Given the description of an element on the screen output the (x, y) to click on. 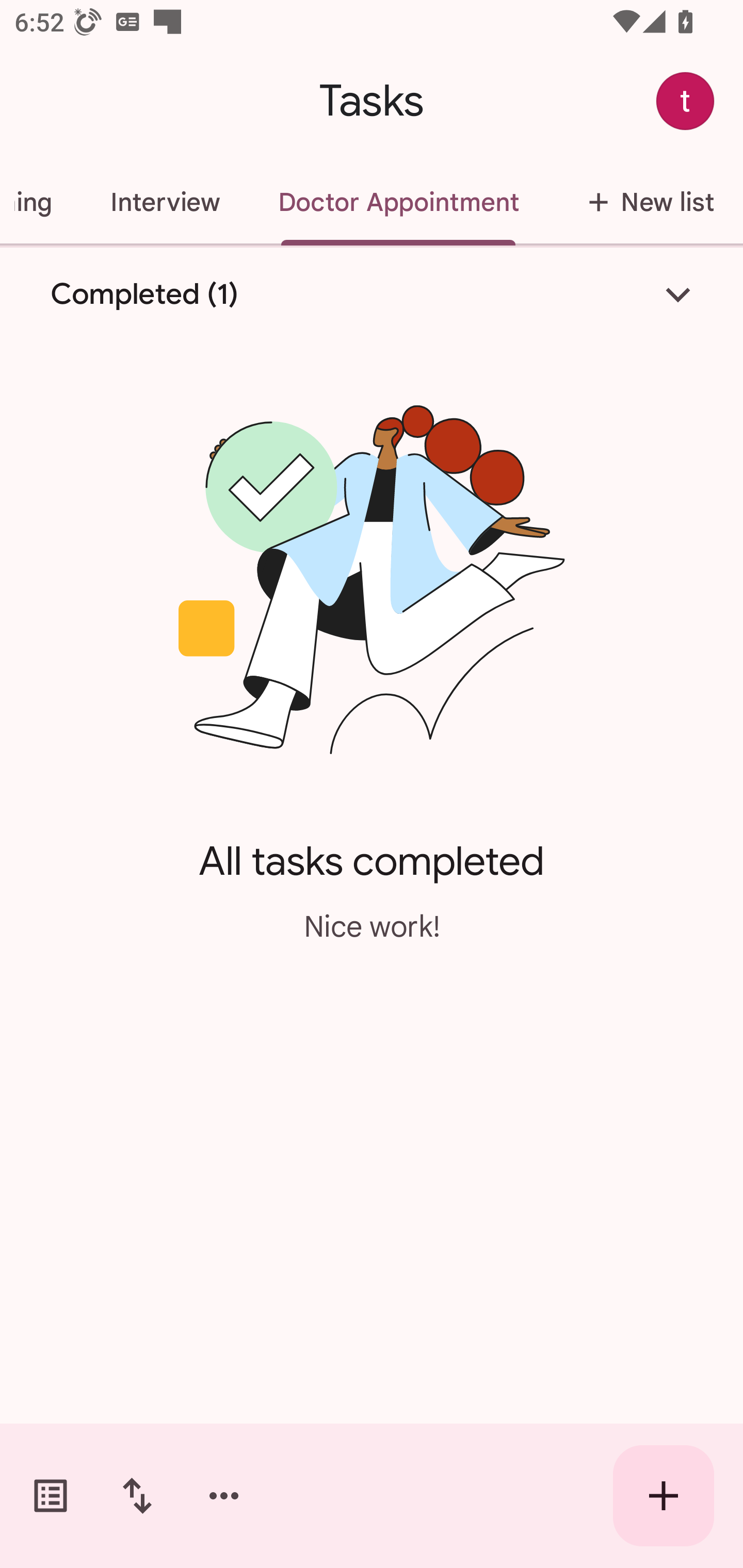
Interview (164, 202)
New list (645, 202)
Completed (1) (371, 294)
Switch task lists (50, 1495)
Create new task (663, 1495)
Change sort order (136, 1495)
More options (223, 1495)
